Given the description of an element on the screen output the (x, y) to click on. 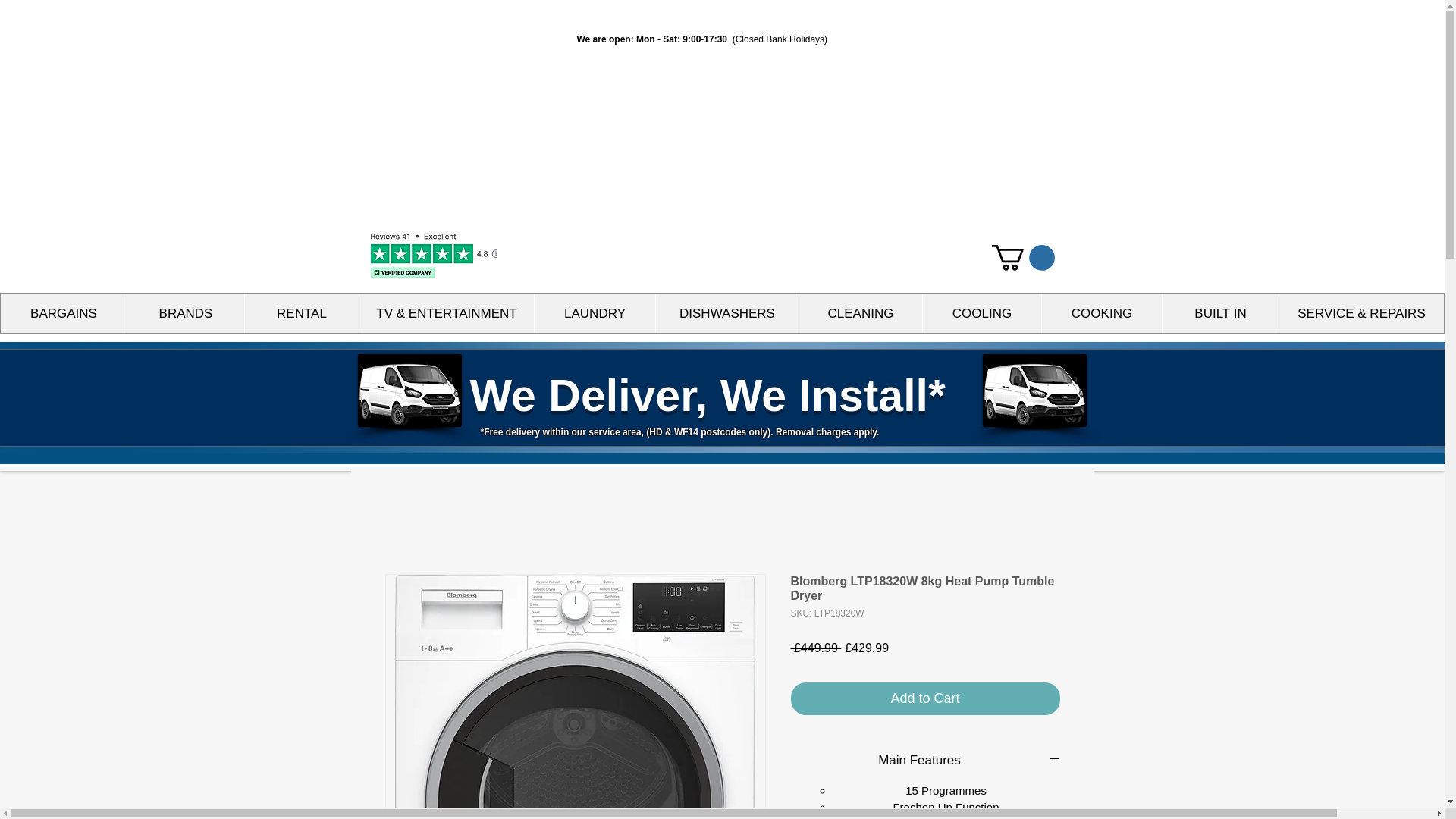
LAUNDRY (594, 313)
CLEANING (859, 313)
RENTAL (301, 313)
BARGAINS (63, 313)
DISHWASHERS (726, 313)
COOLING (981, 313)
